Given the description of an element on the screen output the (x, y) to click on. 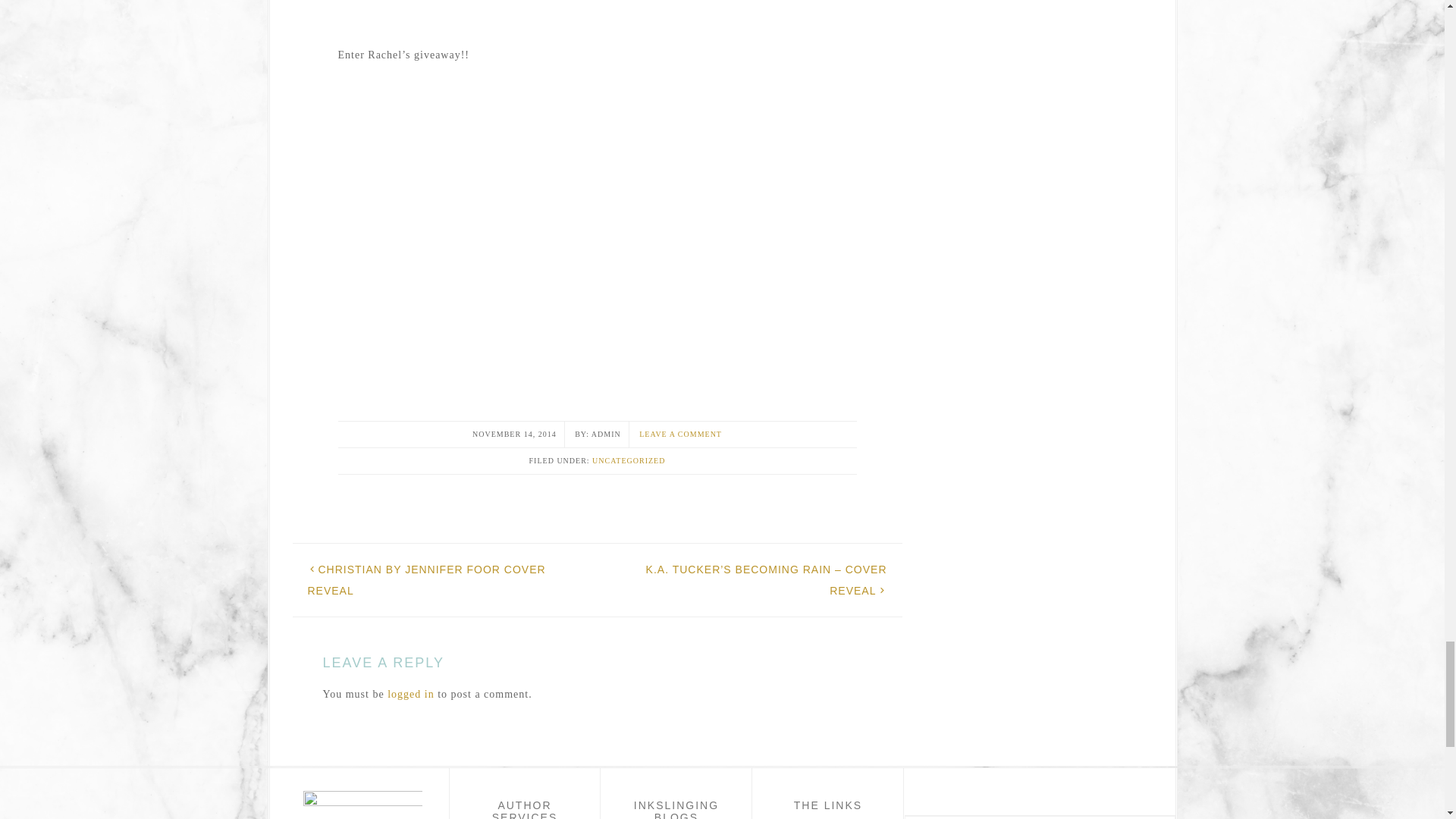
LEAVE A COMMENT (680, 433)
UNCATEGORIZED (628, 460)
CHRISTIAN BY JENNIFER FOOR COVER REVEAL (426, 580)
